Given the description of an element on the screen output the (x, y) to click on. 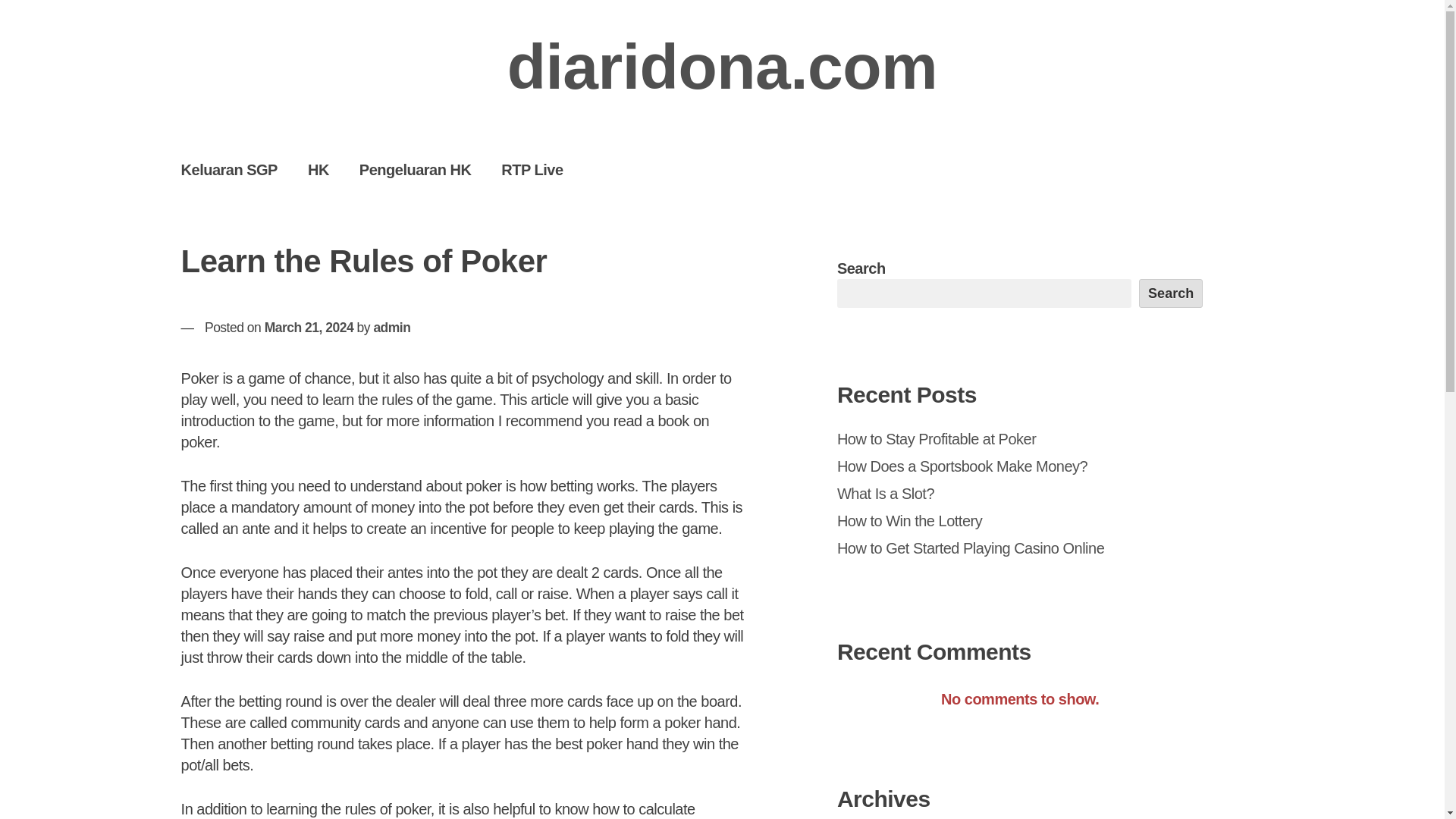
RTP Live (532, 169)
How to Stay Profitable at Poker (936, 438)
Keluaran SGP (228, 169)
How to Get Started Playing Casino Online (970, 547)
What Is a Slot? (885, 493)
Search (1171, 293)
diaridona.com (721, 66)
Pengeluaran HK (414, 169)
March 21, 2024 (308, 327)
How Does a Sportsbook Make Money? (962, 466)
HK (317, 169)
admin (391, 327)
How to Win the Lottery (909, 520)
